Given the description of an element on the screen output the (x, y) to click on. 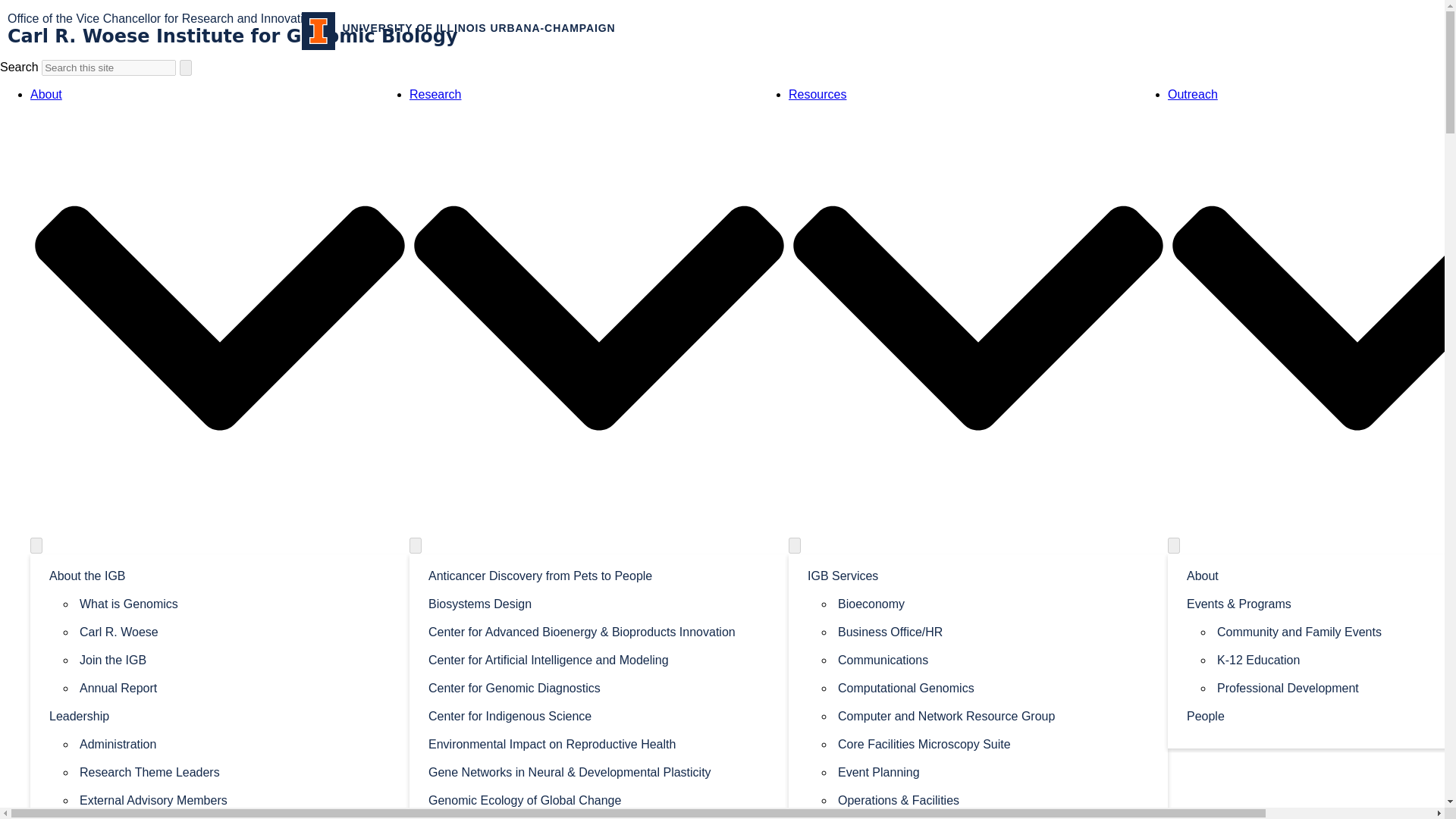
Research (435, 93)
Videos (234, 687)
What is Genomics (234, 602)
Biosystems Design (599, 602)
Annual Report (234, 687)
Administration (234, 743)
External Advisory Members (234, 799)
Diversity (219, 816)
Biosystems Design (599, 602)
Carl R. Woese Institute for Genomic Biology (232, 35)
Genomic Security and Privacy (599, 816)
Research Theme Leaders (234, 771)
Join the IGB (234, 659)
Office of the Vice Chancellor for Research and Innovation (162, 18)
